Given the description of an element on the screen output the (x, y) to click on. 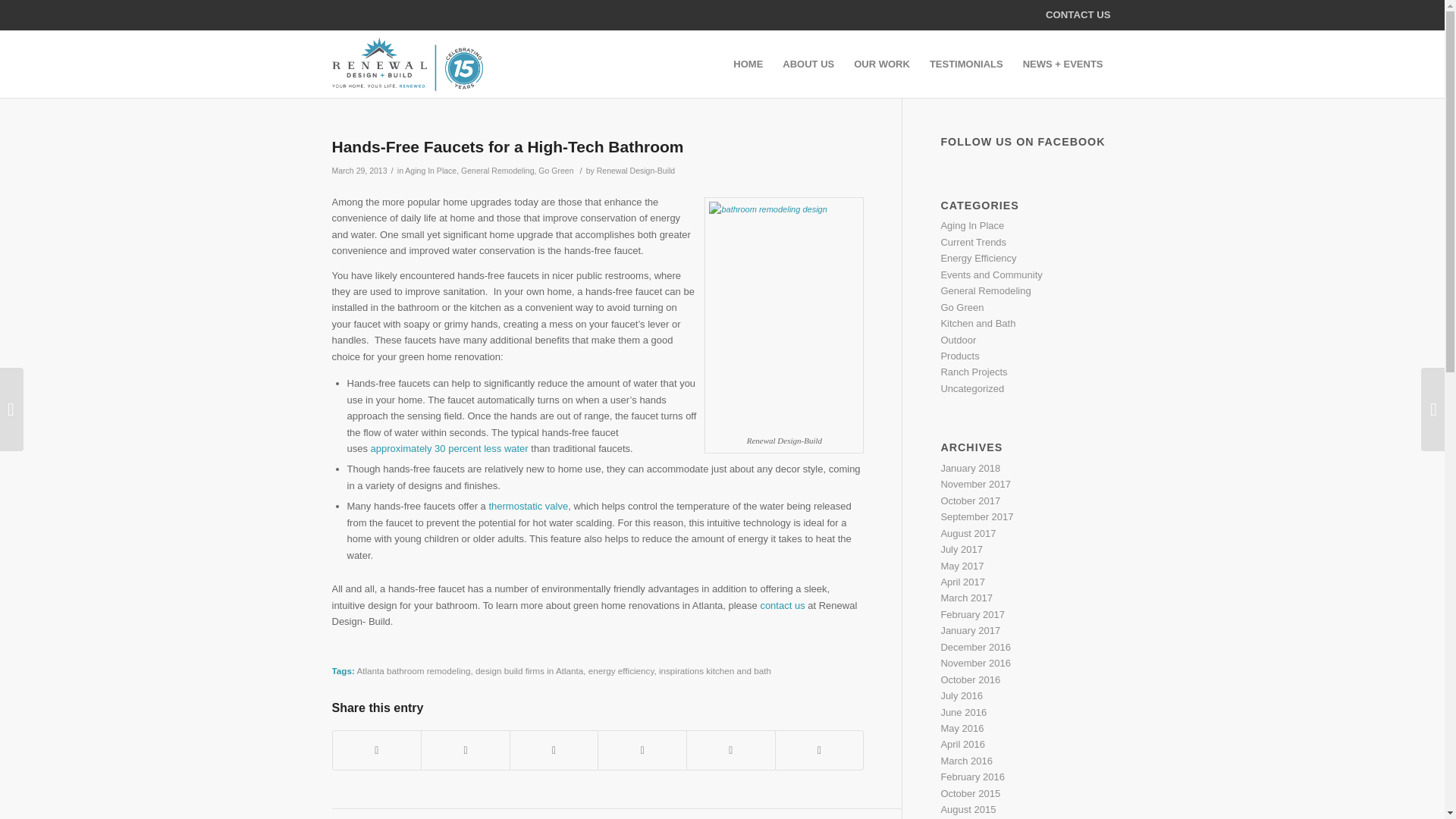
Atlanta bathroom remodeling (413, 670)
design build firms in Atlanta (529, 670)
Hands-Free Faucets for a High-Tech Bathroom (507, 146)
Go Green (555, 170)
Posts by Renewal Design-Build (635, 170)
OUR WORK (882, 64)
contact us (782, 604)
Aging In Place (430, 170)
energy efficiency (620, 670)
inspirations kitchen and bath (715, 670)
ABOUT US (808, 64)
General Remodeling (497, 170)
approximately 30 percent less water (449, 448)
CONTACT US (1077, 14)
thermostatic valve (527, 505)
